Given the description of an element on the screen output the (x, y) to click on. 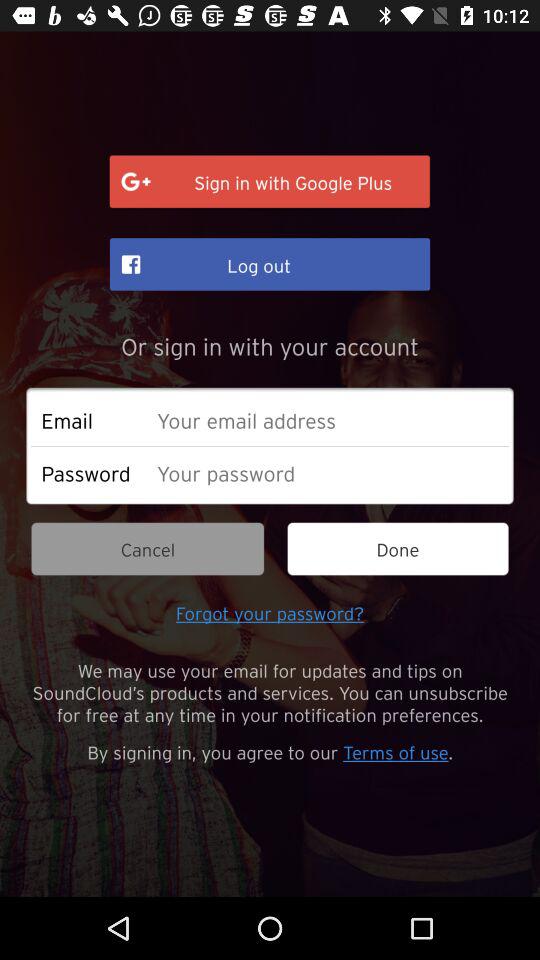
scroll to the cancel (147, 548)
